Given the description of an element on the screen output the (x, y) to click on. 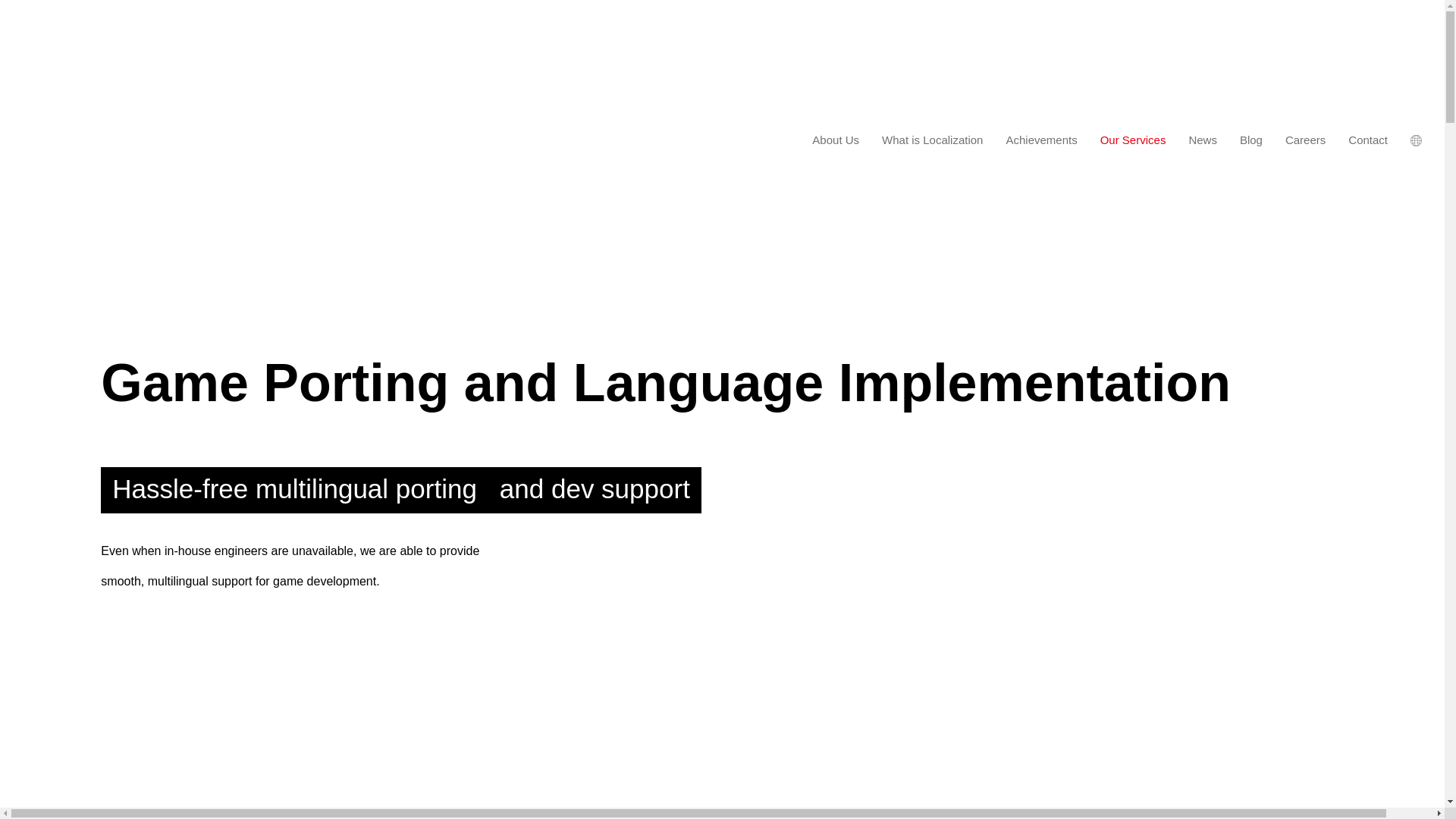
Careers (1305, 140)
Achievements (1040, 140)
Blog (1251, 140)
About Us (835, 140)
Contact (1367, 140)
News (1202, 140)
Our Services (1133, 140)
What is Localization (932, 140)
